Given the description of an element on the screen output the (x, y) to click on. 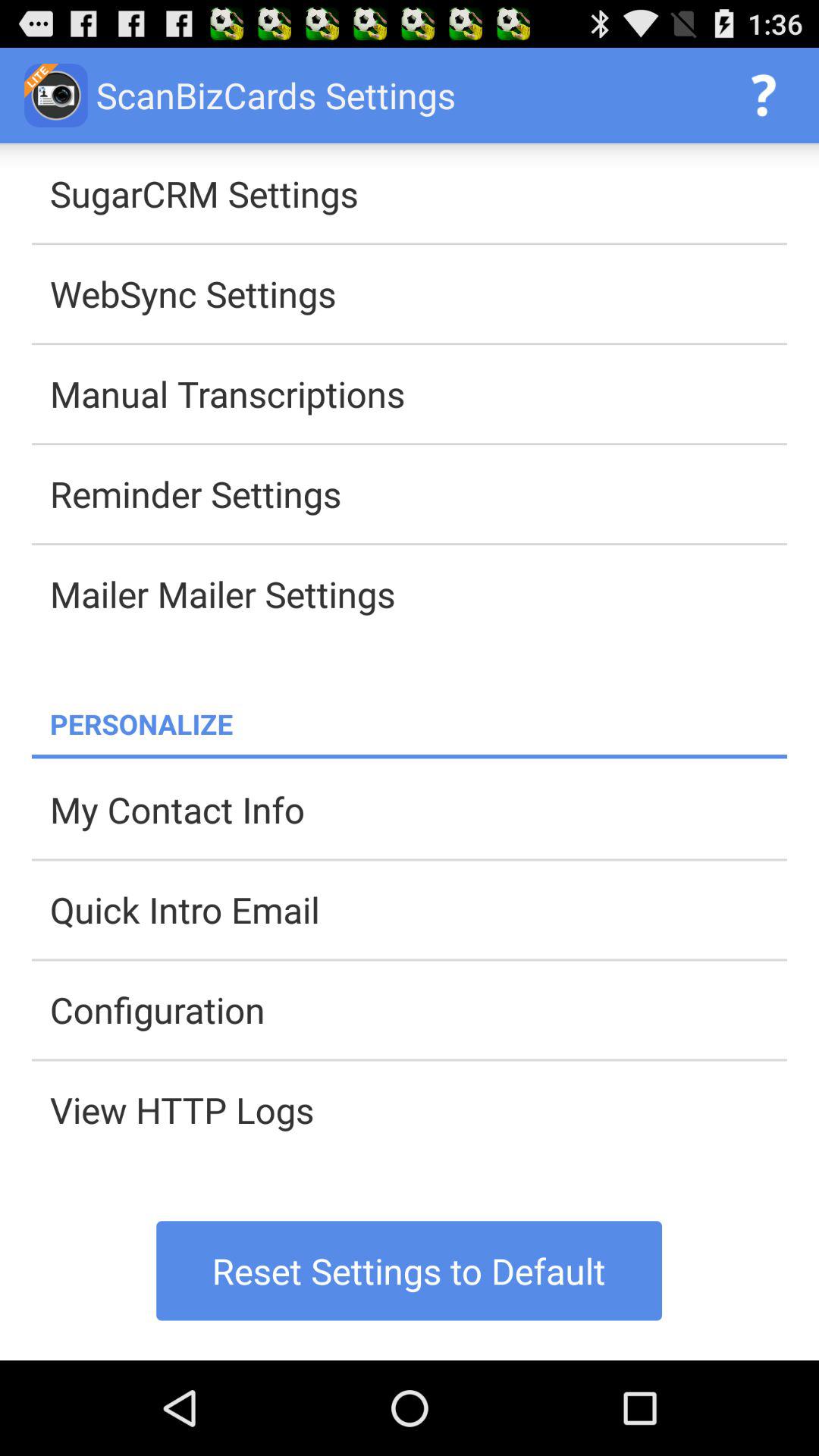
jump to the personalize app (418, 723)
